Given the description of an element on the screen output the (x, y) to click on. 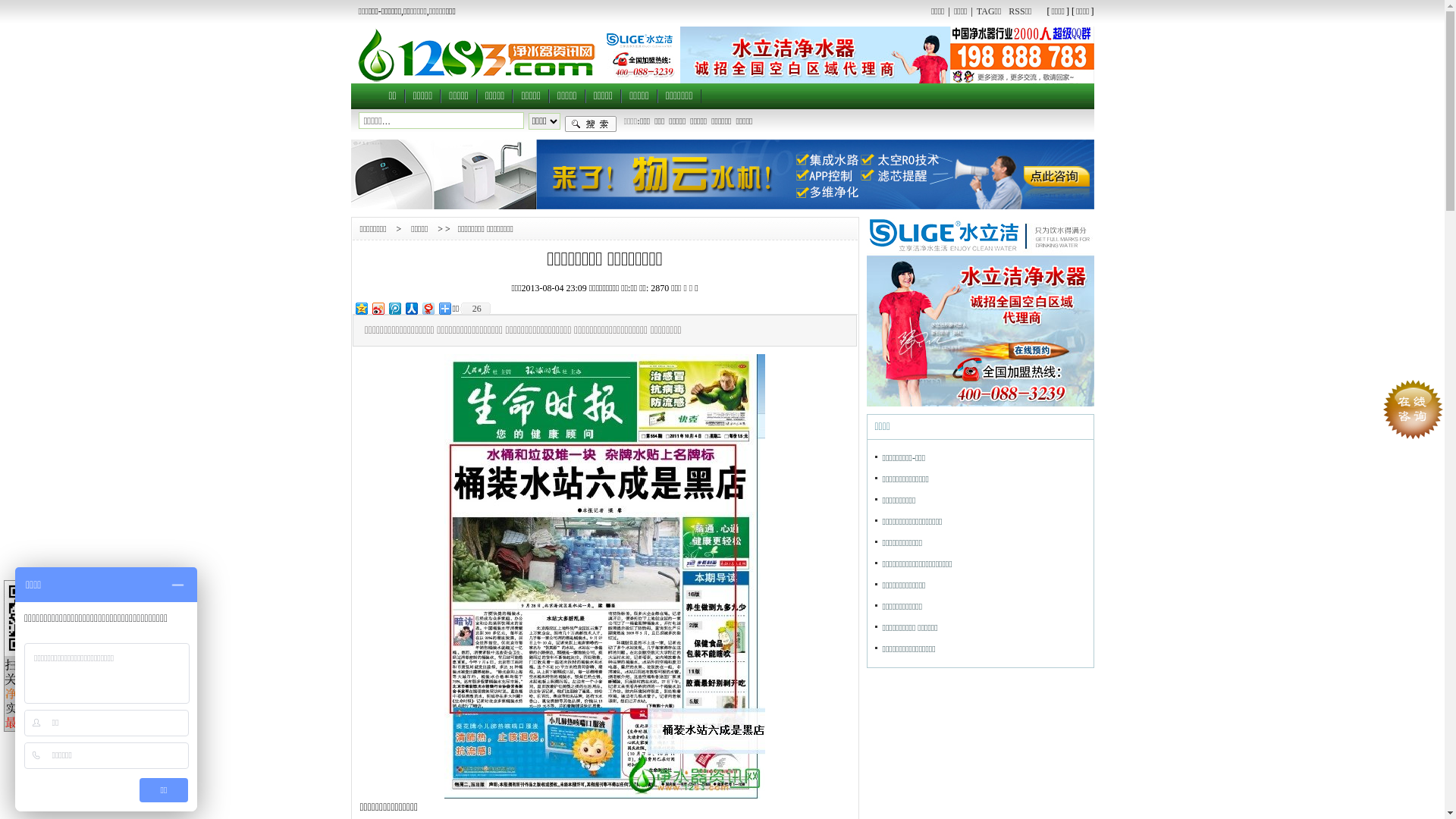
26 Element type: text (474, 308)
